Given the description of an element on the screen output the (x, y) to click on. 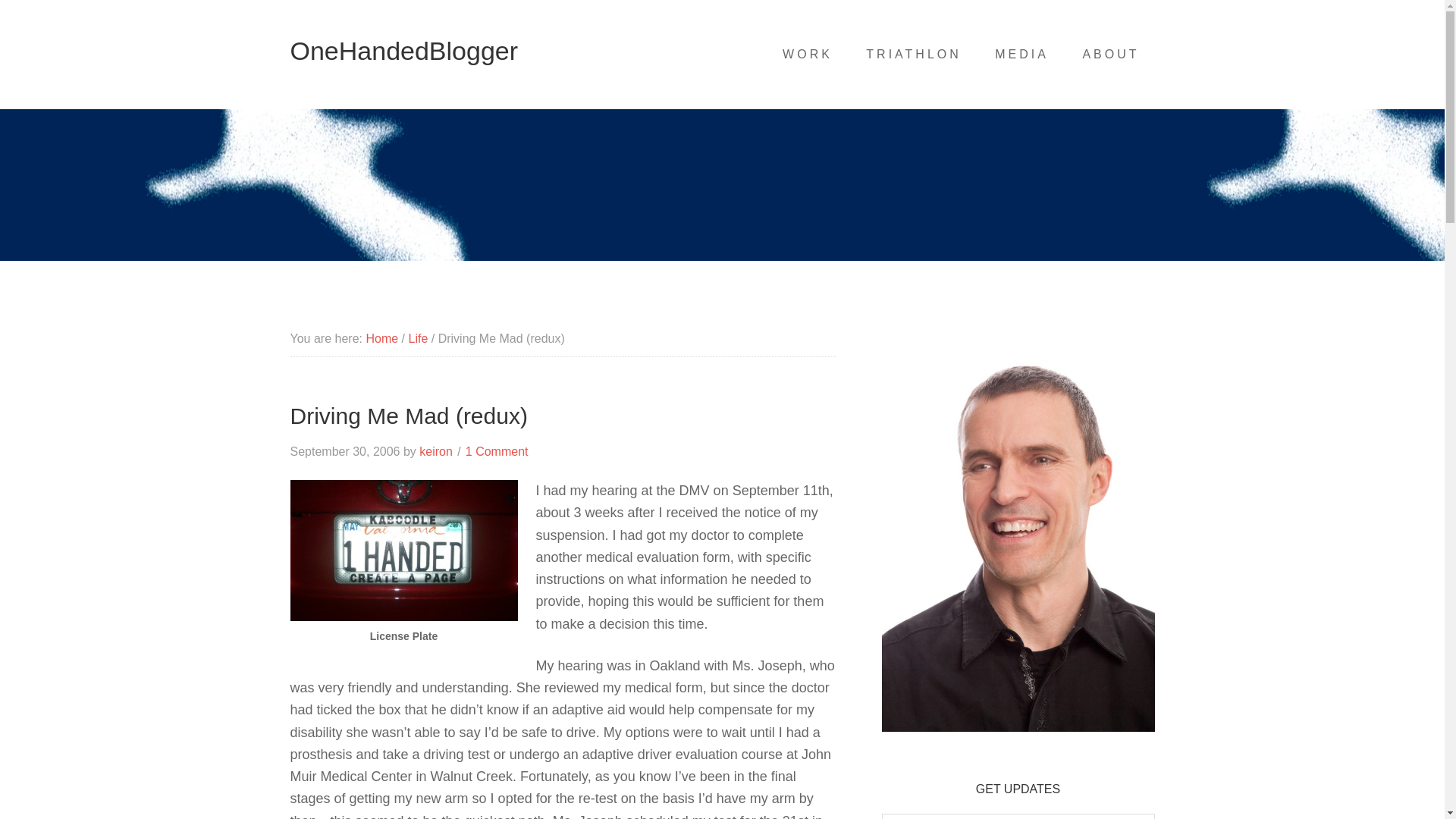
keiron (435, 451)
TRIATHLON (912, 54)
1 Comment (496, 451)
Life (417, 338)
OneHandedBlogger (403, 50)
MEDIA (1021, 54)
ABOUT (1110, 54)
WORK (807, 54)
Home (381, 338)
